Given the description of an element on the screen output the (x, y) to click on. 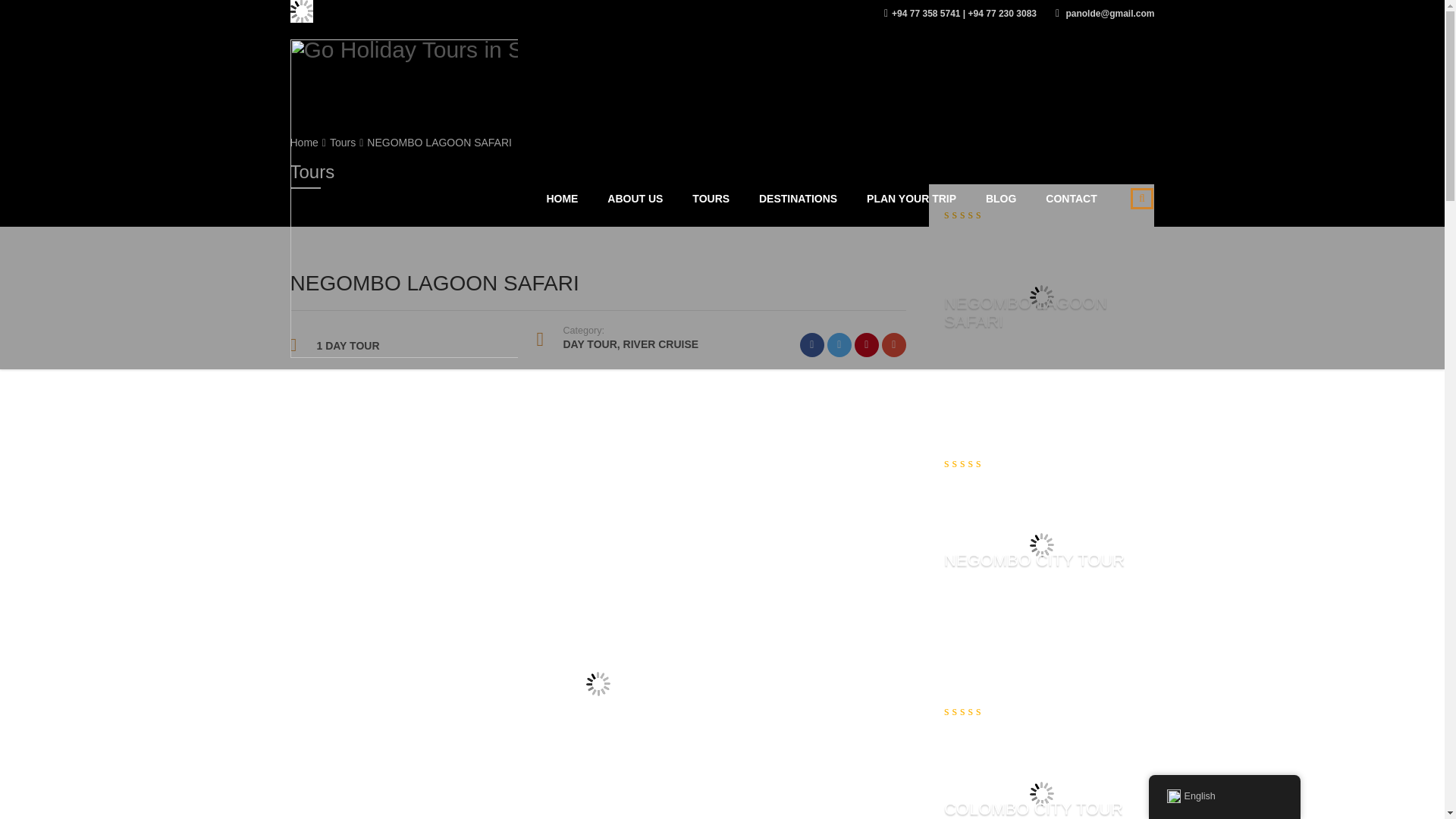
NEGOMBO LAGOON SAFARI (1024, 311)
ABOUT US (634, 198)
PLAN YOUR TRIP (911, 198)
DAY TOUR (588, 344)
Home (303, 142)
Go Holiday Tours in Sri Lanka - visit Sri Lanka with experts (402, 196)
Tours (342, 142)
CONTACT (1070, 198)
Tours (342, 142)
DESTINATIONS (797, 198)
RIVER CRUISE (660, 344)
